Given the description of an element on the screen output the (x, y) to click on. 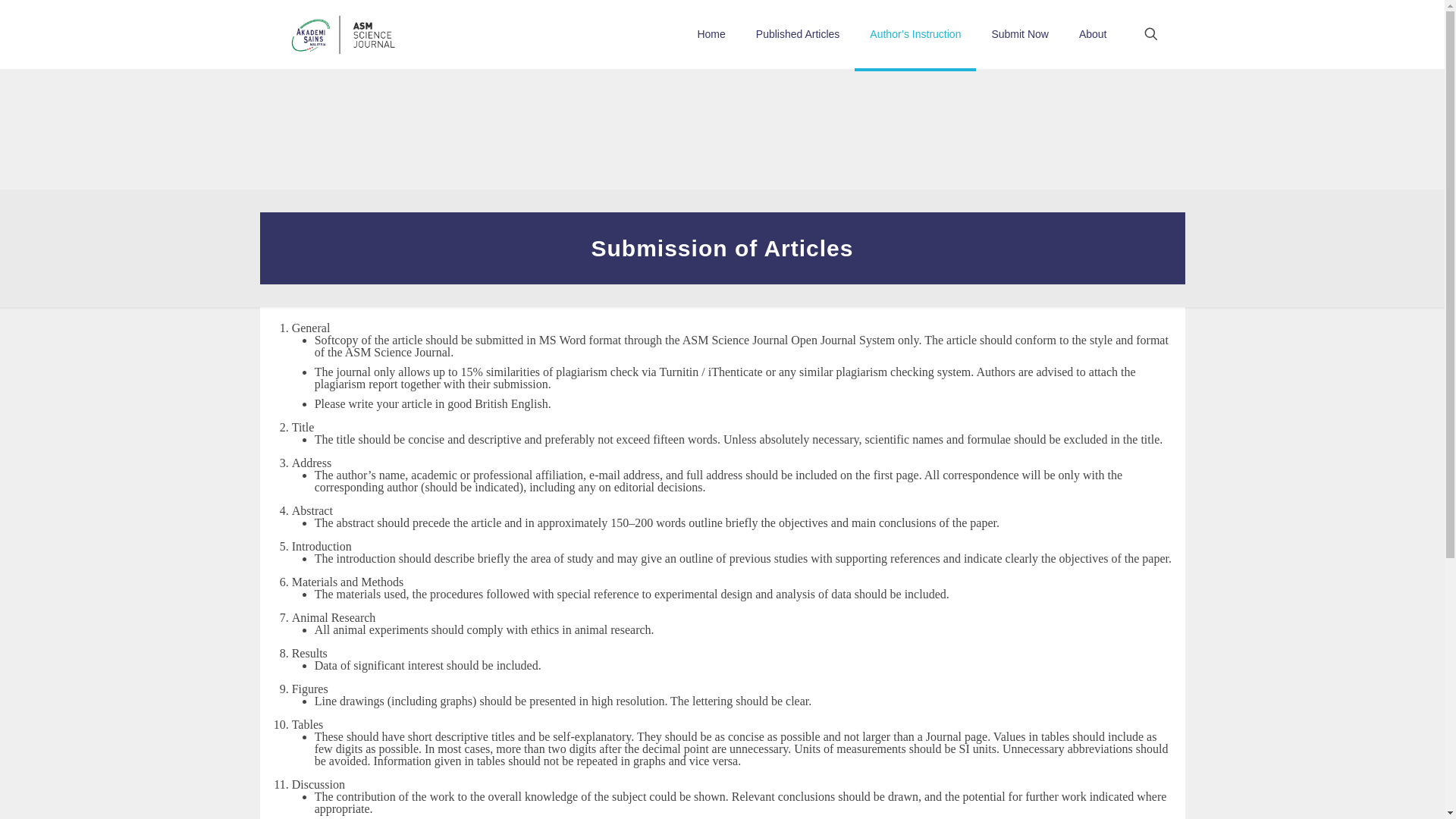
Submit Now (1018, 33)
Home (710, 33)
Published Articles (798, 33)
About (1093, 33)
ASM Science Journal (343, 33)
